Given the description of an element on the screen output the (x, y) to click on. 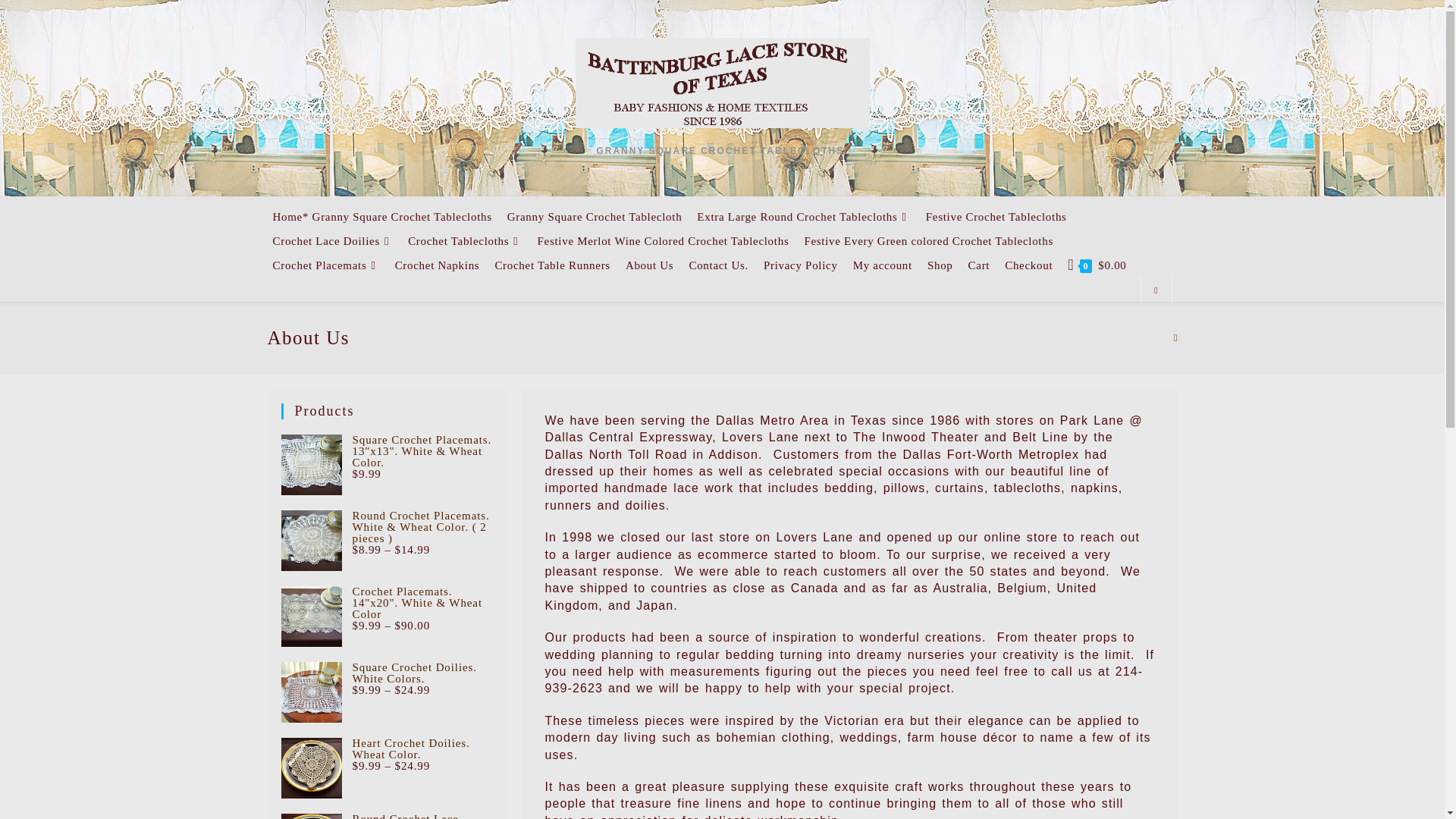
Cart (978, 265)
Festive Every Green colored Crochet Tablecloths (928, 241)
Crochet Table Runners (551, 265)
Extra Large Round Crochet Tablecloths (802, 216)
Crochet Tablecloths (464, 241)
Crochet Lace Doilies (332, 241)
Privacy Policy (800, 265)
Festive Merlot Wine Colored Crochet Tablecloths (662, 241)
About Us (649, 265)
Crochet Napkins (437, 265)
Shop (940, 265)
My account (882, 265)
Crochet Placemats (325, 265)
Checkout (1028, 265)
Festive Crochet Tablecloths (996, 216)
